Given the description of an element on the screen output the (x, y) to click on. 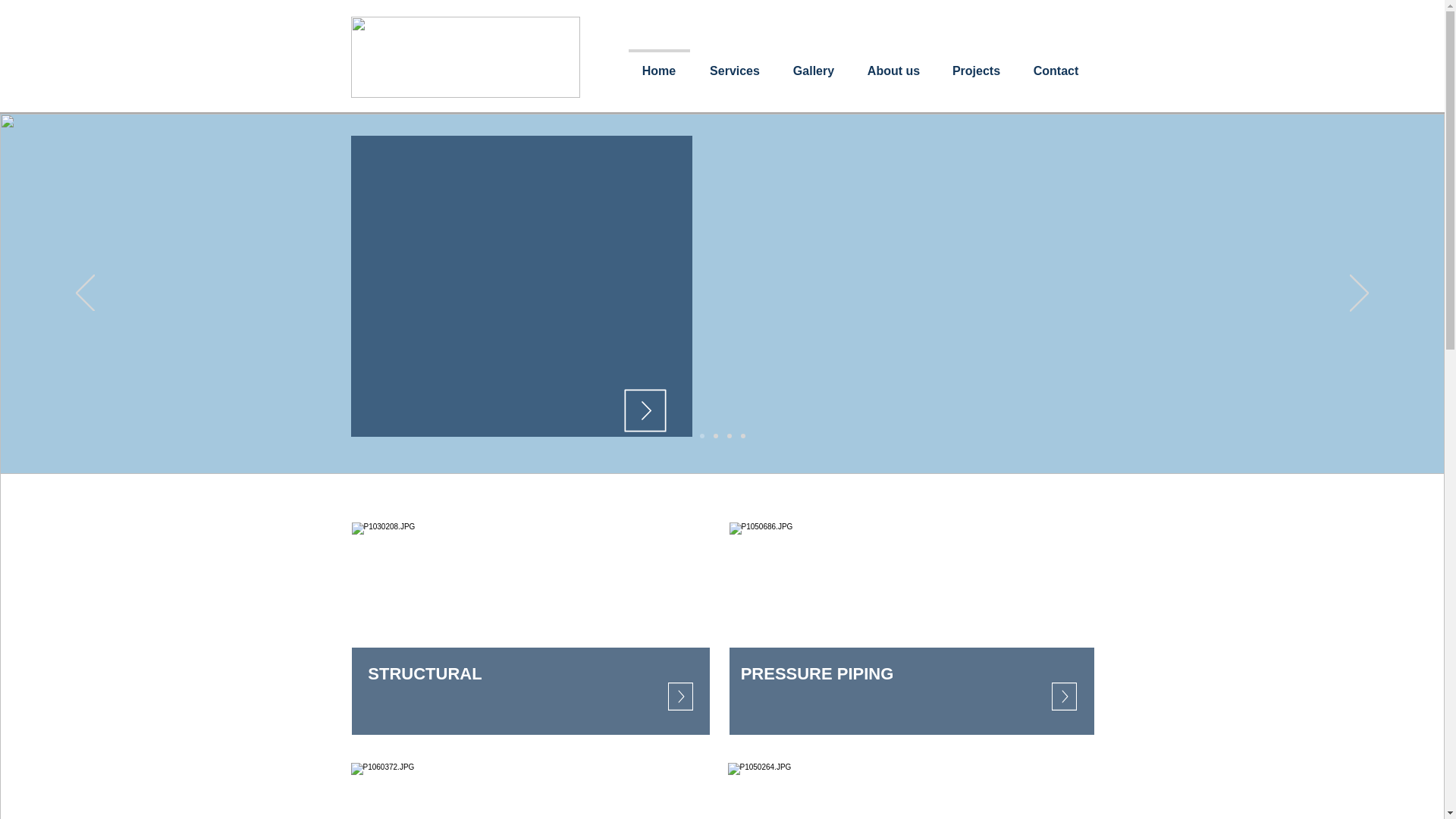
Services (734, 64)
Projects (976, 64)
Home (659, 64)
Gallery (813, 64)
PRESSURE PIPING (817, 674)
About us (893, 64)
Contact (1055, 64)
STRUCTURAL (424, 674)
